Given the description of an element on the screen output the (x, y) to click on. 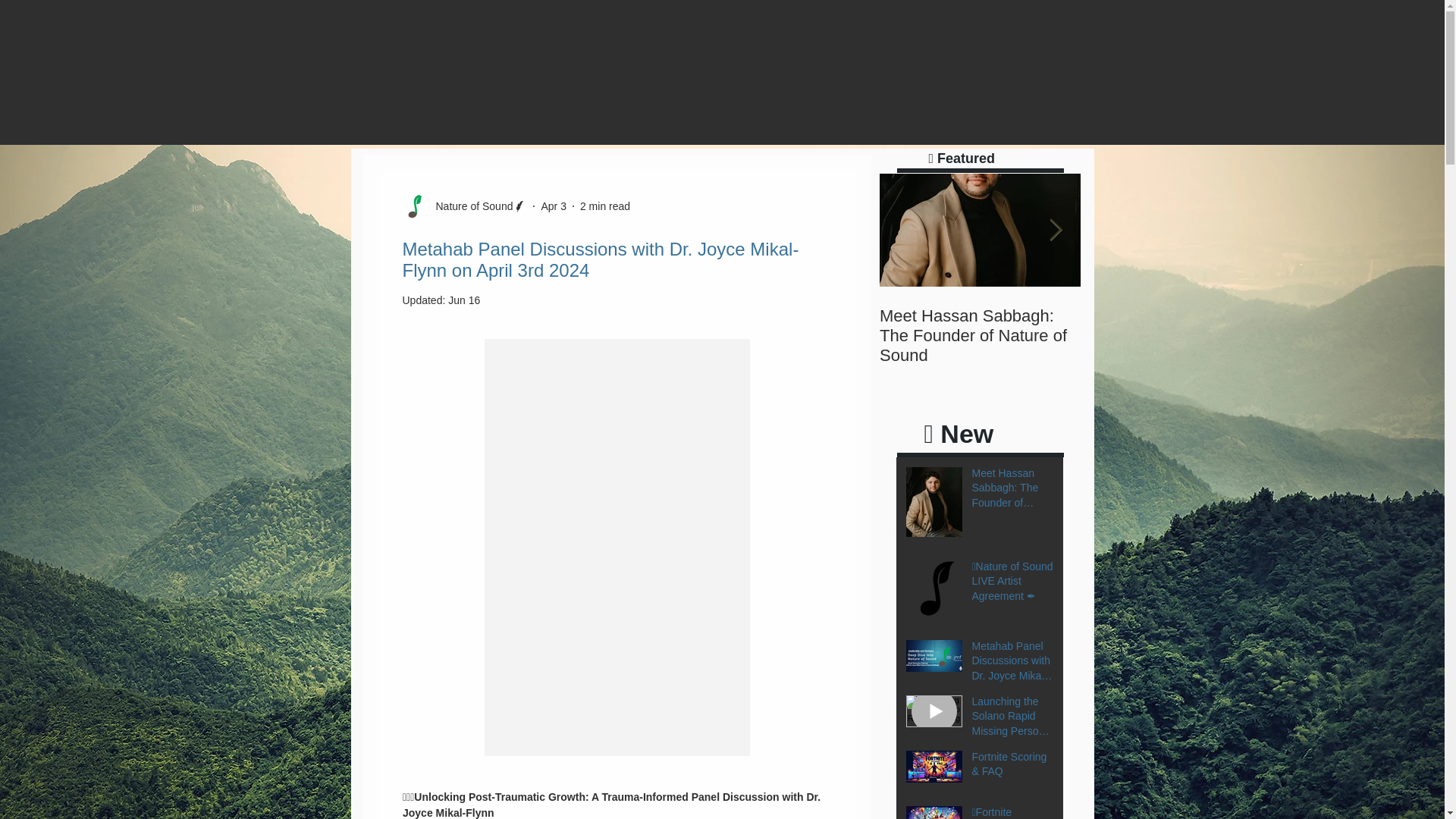
2 min read (604, 205)
Meet Hassan Sabbagh: The Founder of Nature of Sound (979, 335)
Meet Hassan Sabbagh: The Founder of Nature of Sound (1013, 491)
Apr 3 (553, 205)
Nature of Sound (469, 206)
Jun 16 (464, 300)
